Given the description of an element on the screen output the (x, y) to click on. 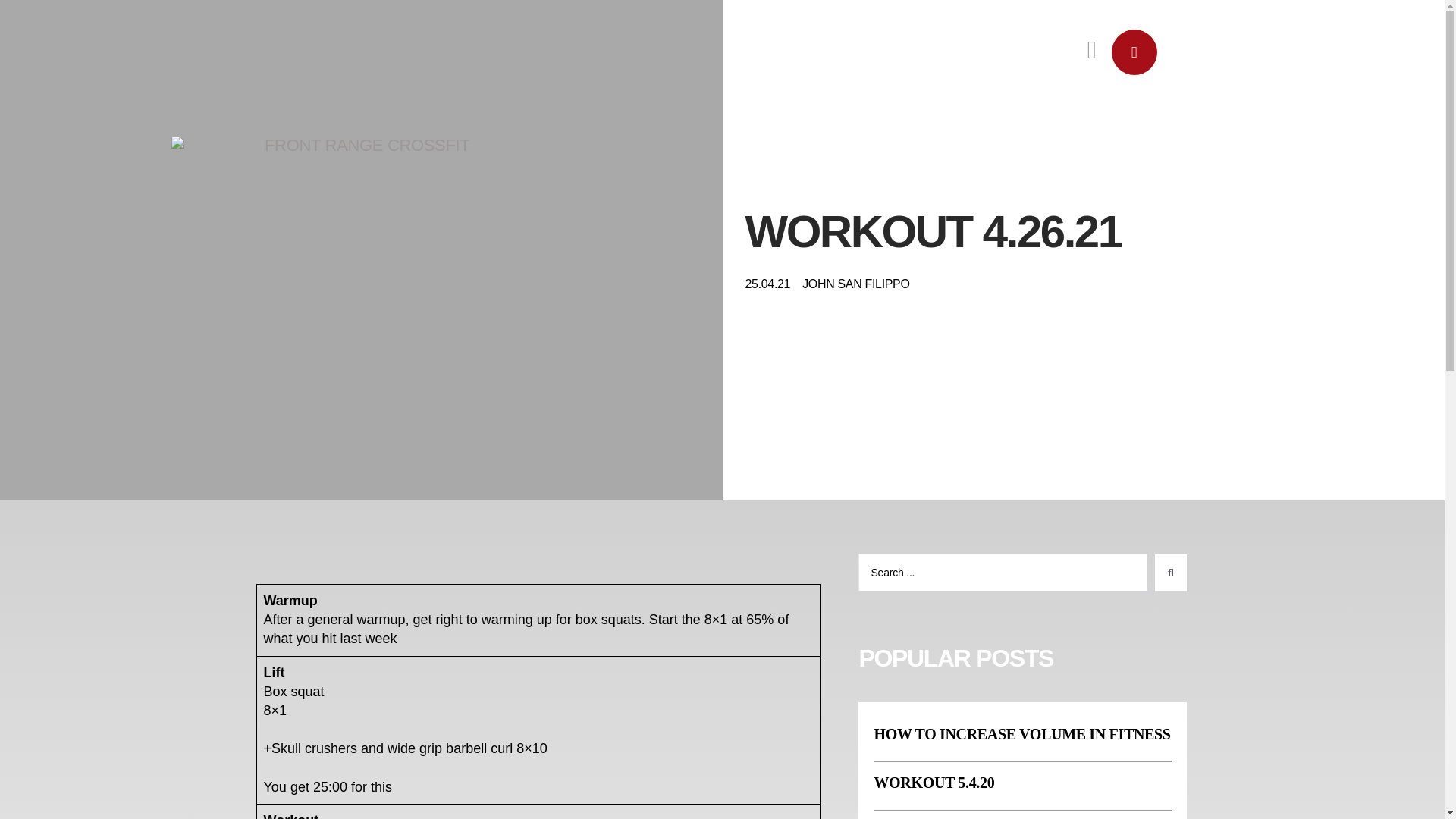
WORKOUT 5.4.20 (933, 782)
HOW TO INCREASE VOLUME IN FITNESS (1021, 733)
